Given the description of an element on the screen output the (x, y) to click on. 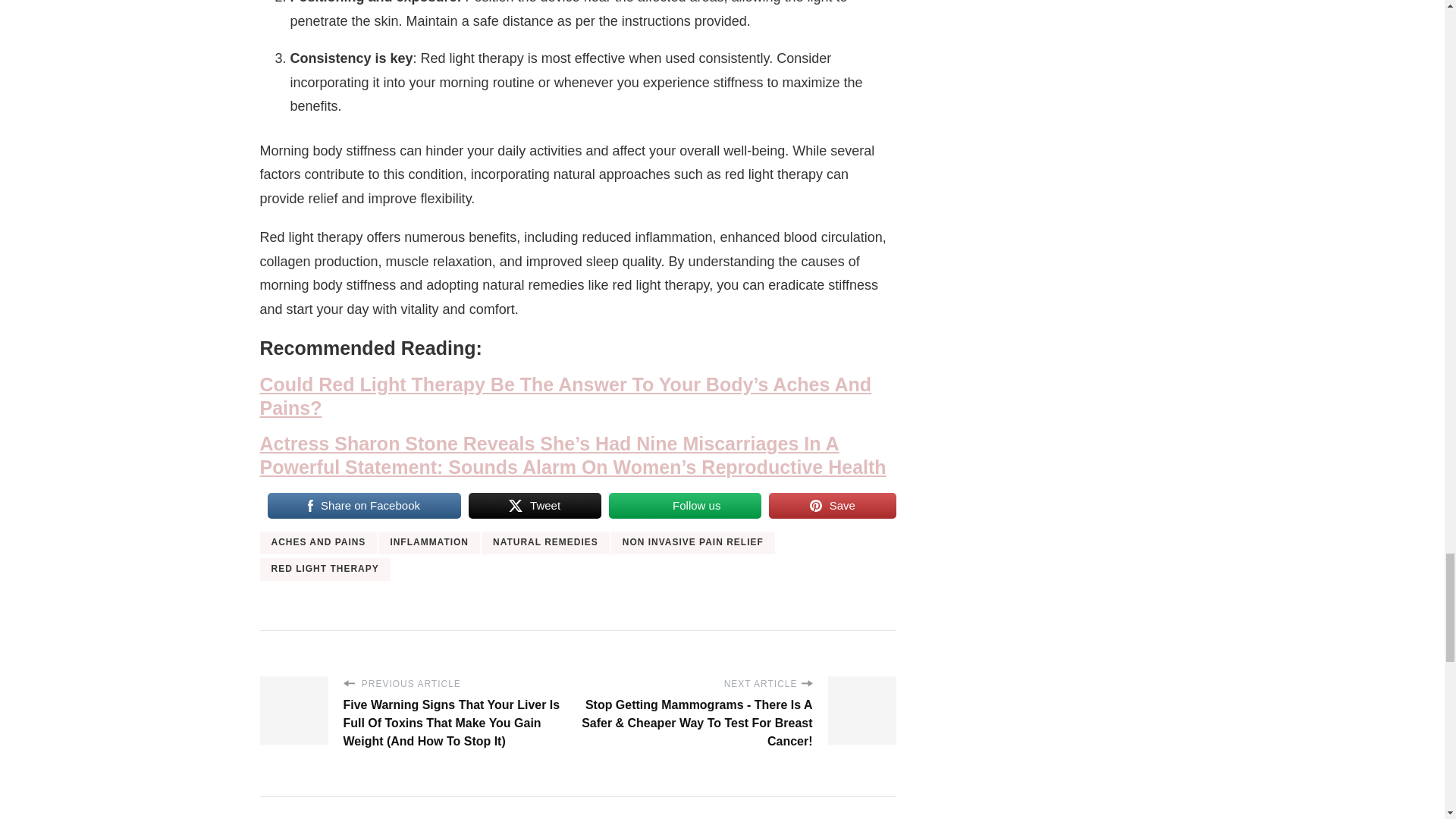
Share on Facebook (363, 505)
Follow us (684, 505)
Tweet (534, 505)
NATURAL REMEDIES (545, 542)
INFLAMMATION (429, 542)
ACHES AND PAINS (318, 542)
RED LIGHT THERAPY (324, 568)
Save (831, 505)
NON INVASIVE PAIN RELIEF (692, 542)
